Given the description of an element on the screen output the (x, y) to click on. 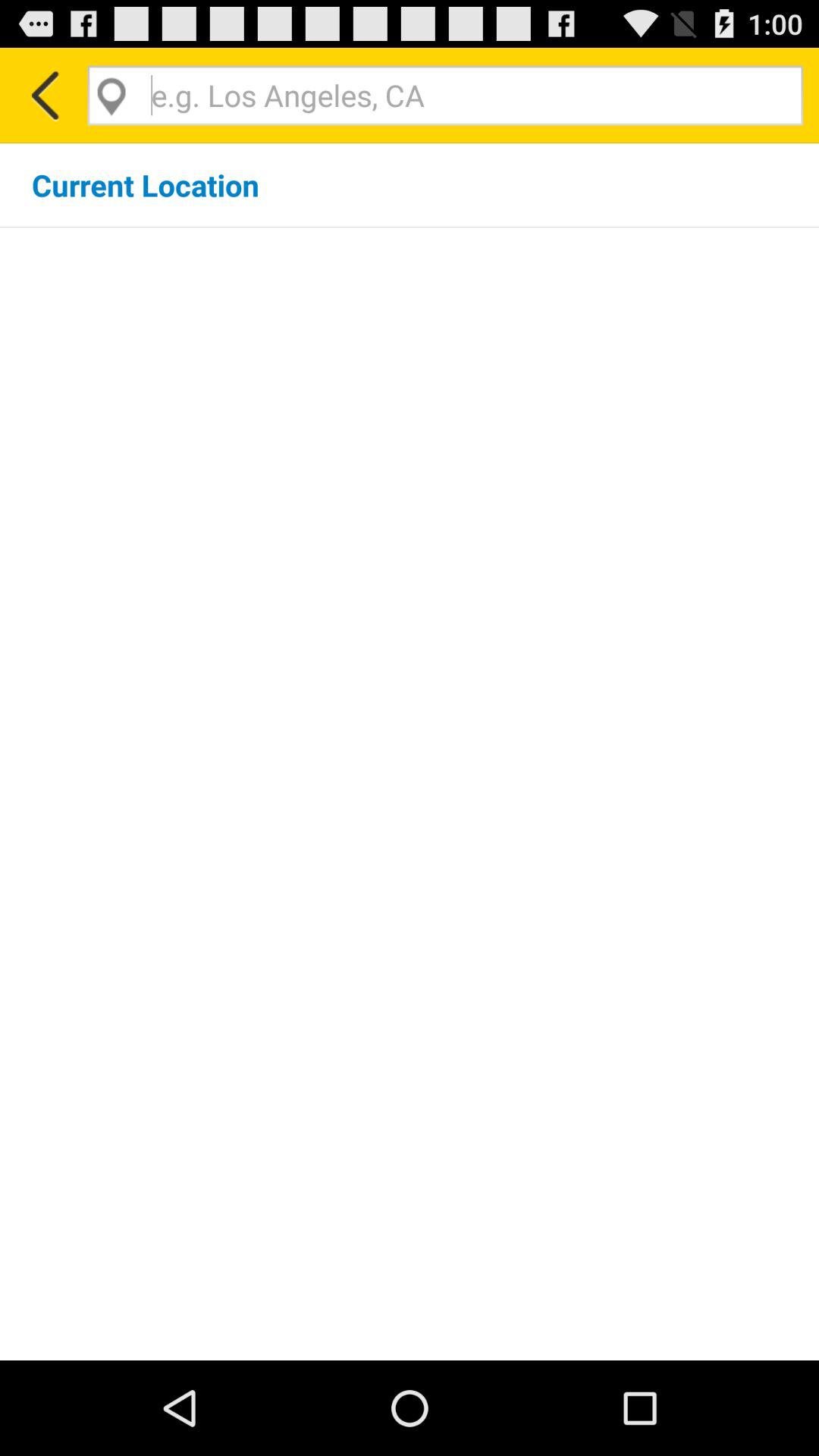
open the item above current location icon (43, 95)
